Given the description of an element on the screen output the (x, y) to click on. 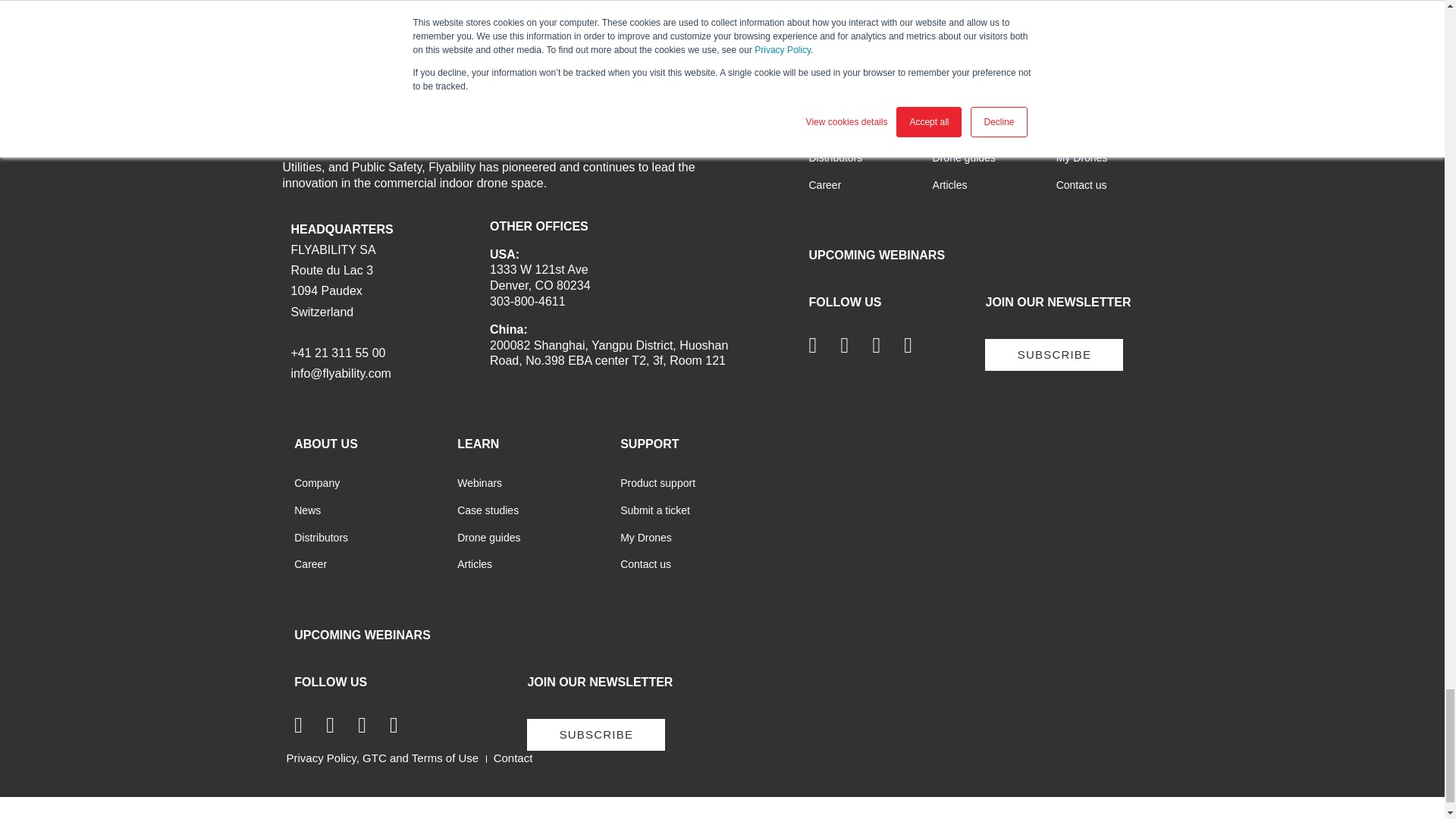
Subscribe (1053, 355)
Subscribe (596, 735)
